Given the description of an element on the screen output the (x, y) to click on. 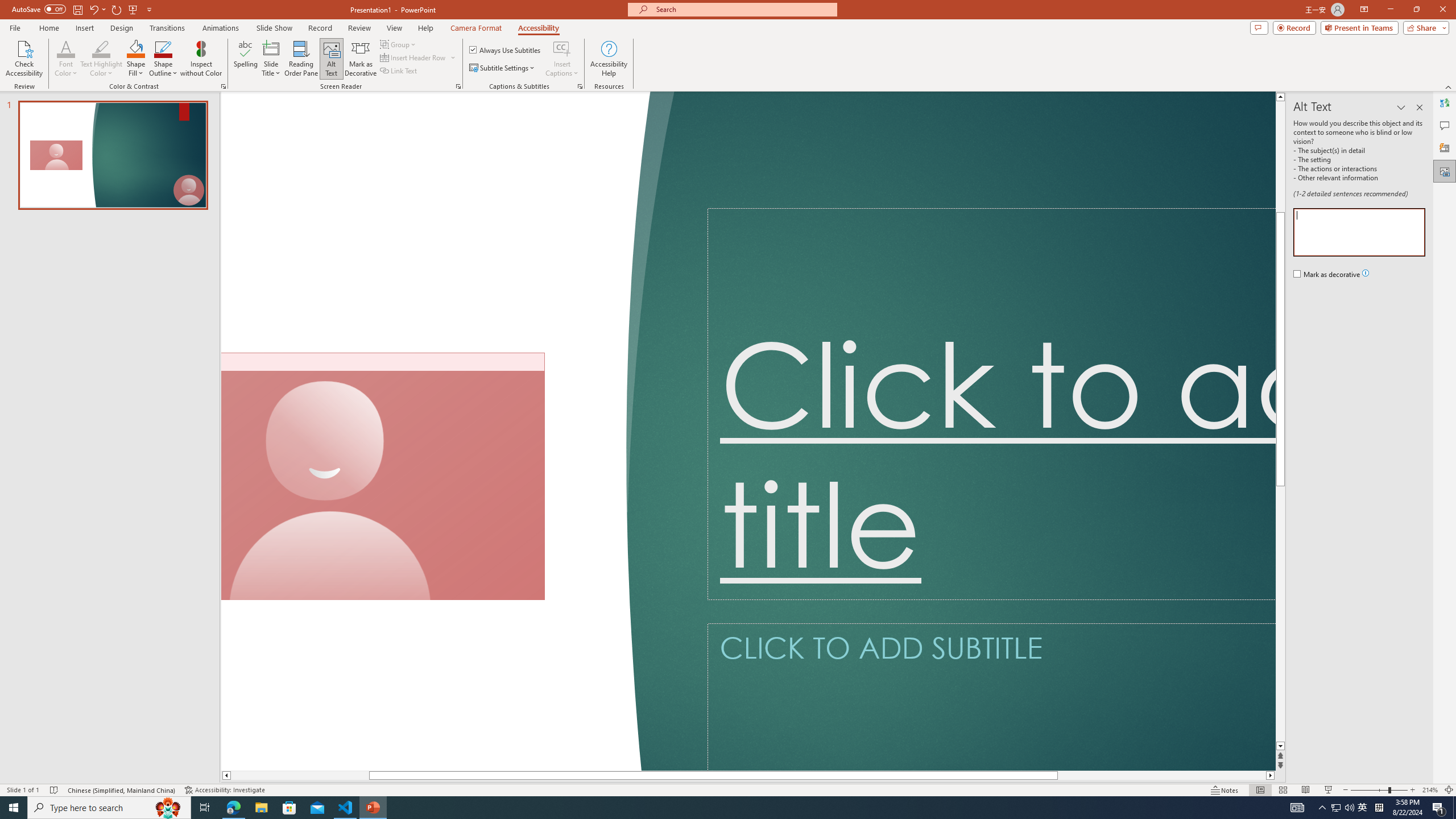
Camera 7, No camera detected. (383, 476)
Insert Captions (561, 58)
Link Text (399, 69)
